Given the description of an element on the screen output the (x, y) to click on. 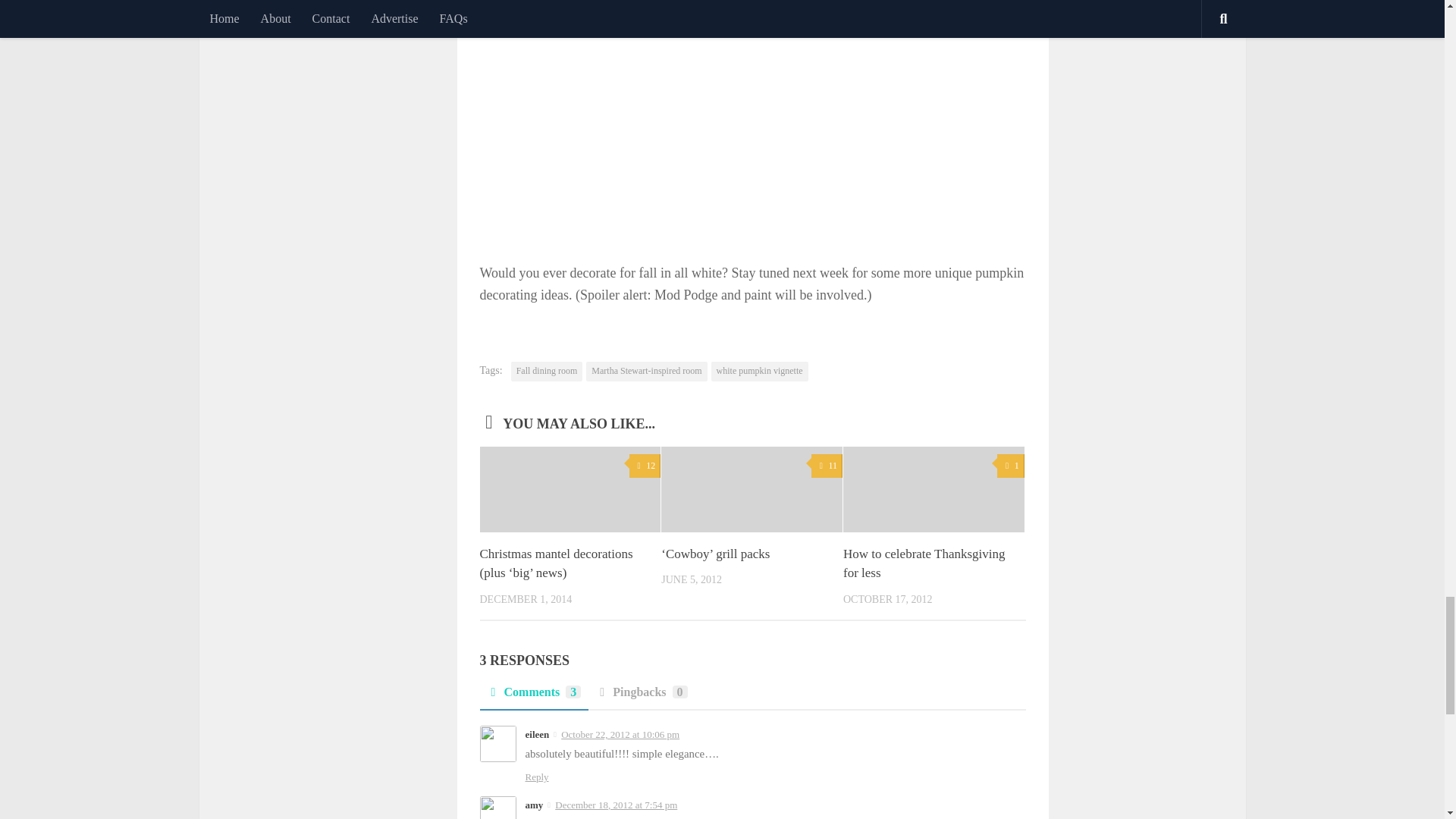
Permalink to How to celebrate Thanksgiving for less (924, 563)
